Given the description of an element on the screen output the (x, y) to click on. 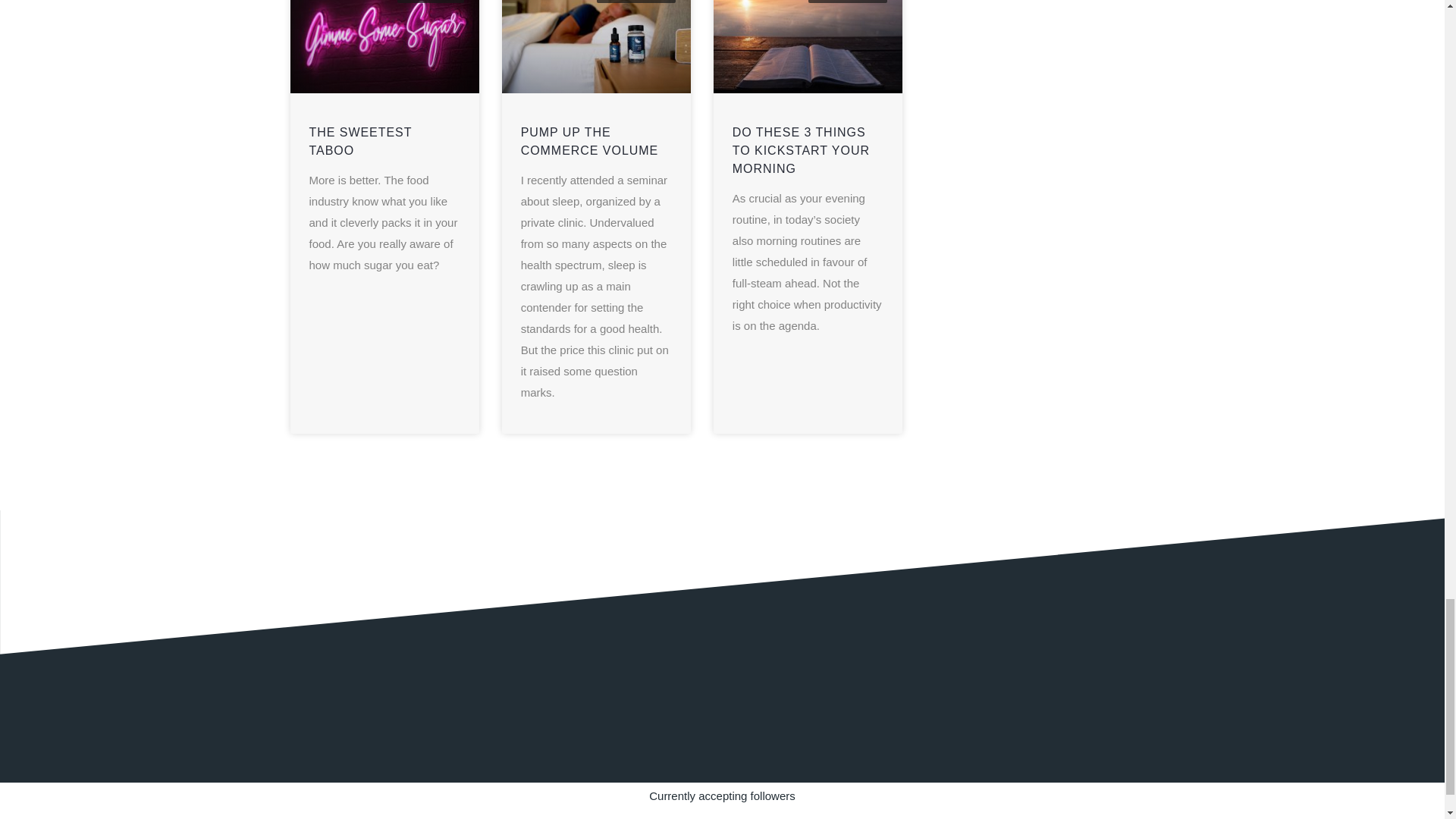
THE SWEETEST TABOO (360, 141)
PUMP UP THE COMMERCE VOLUME (590, 141)
DO THESE 3 THINGS TO KICKSTART YOUR MORNING (800, 150)
